Given the description of an element on the screen output the (x, y) to click on. 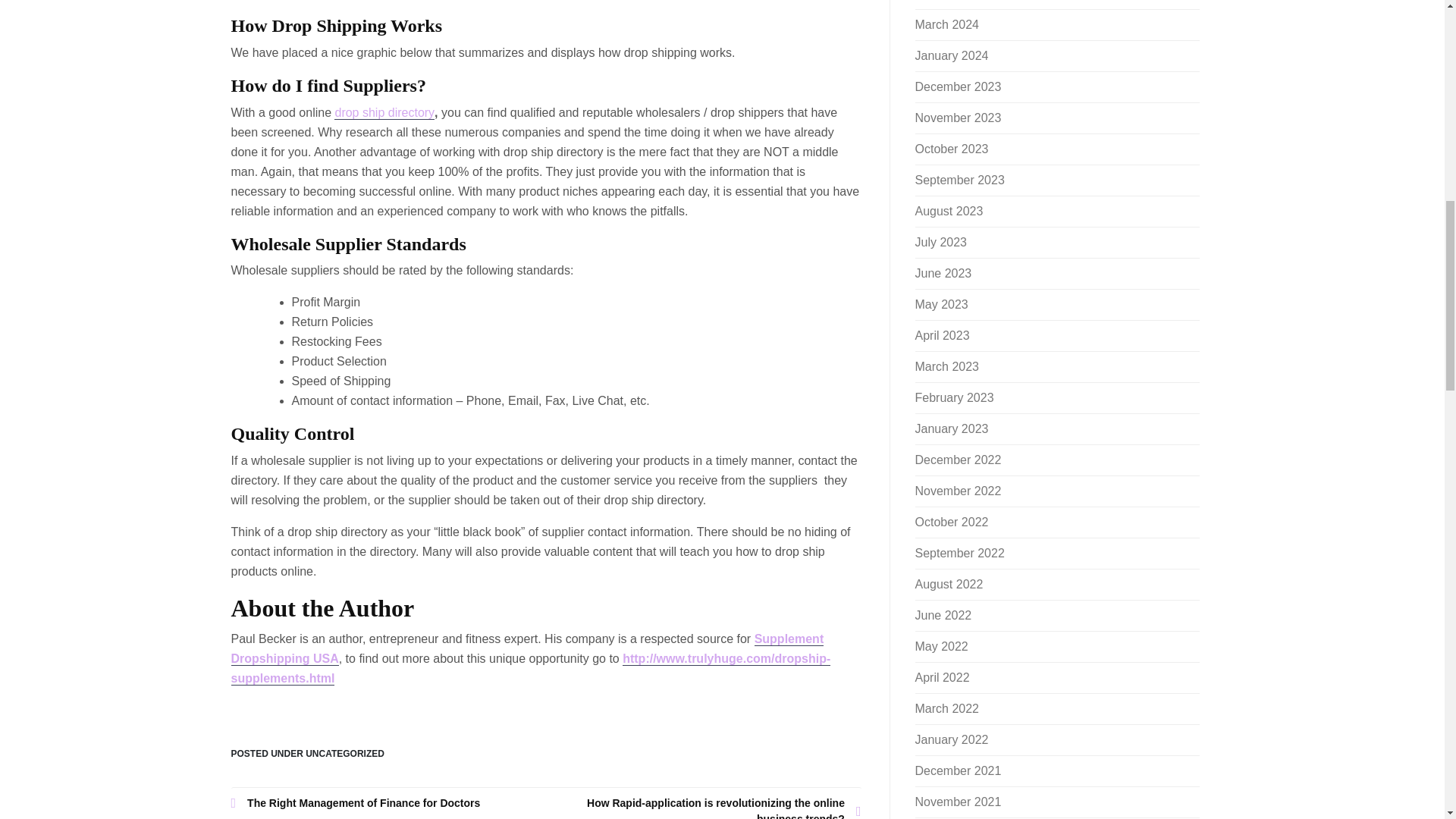
October 2023 (951, 148)
November 2023 (957, 117)
December 2023 (957, 86)
The Right Management of Finance for Doctors (388, 803)
September 2023 (959, 179)
Supplement Dropshipping USA (527, 648)
March 2024 (946, 24)
January 2024 (951, 55)
drop ship directory (383, 112)
